Given the description of an element on the screen output the (x, y) to click on. 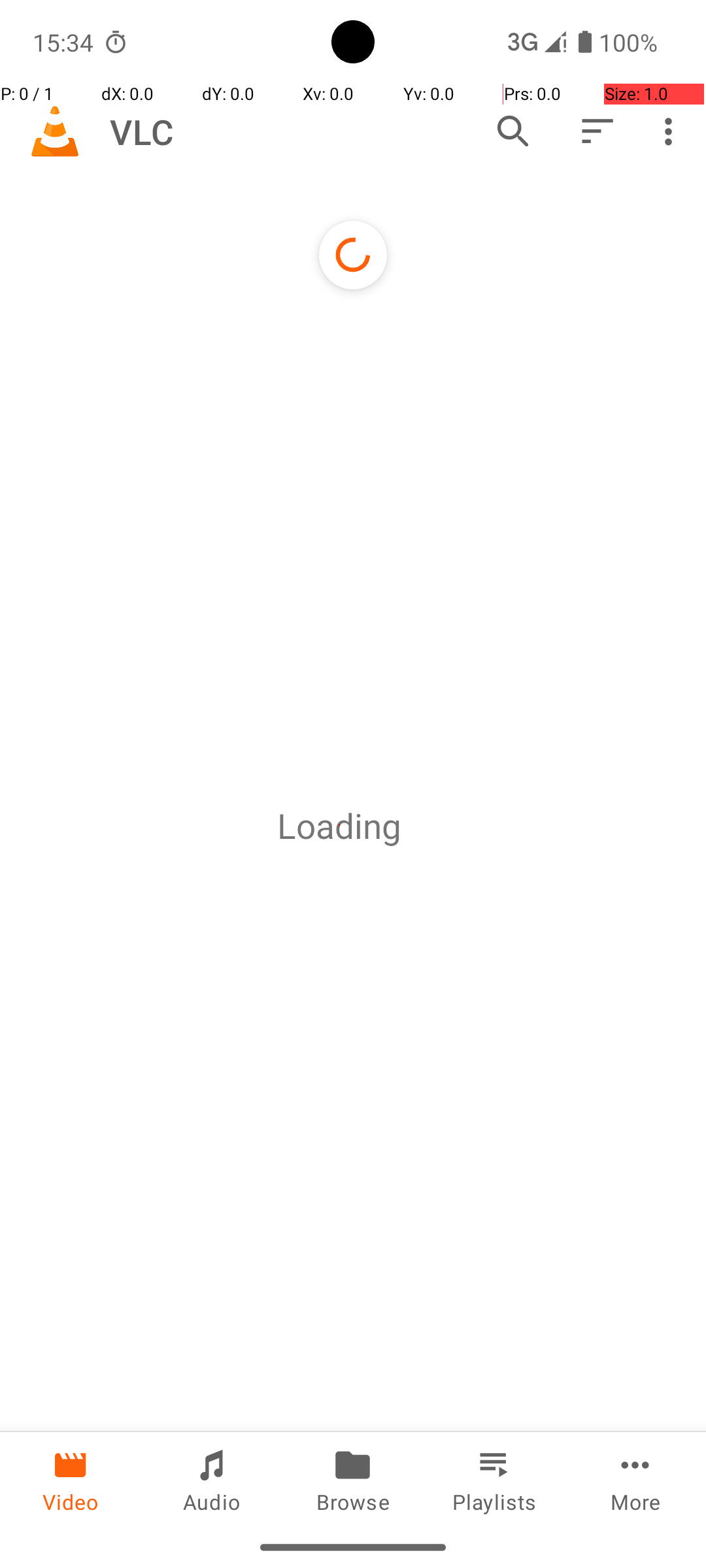
Sort by… Element type: android.widget.TextView (595, 131)
Loading Element type: android.widget.TextView (339, 825)
Video Element type: android.widget.FrameLayout (70, 1478)
Browse Element type: android.widget.FrameLayout (352, 1478)
